Given the description of an element on the screen output the (x, y) to click on. 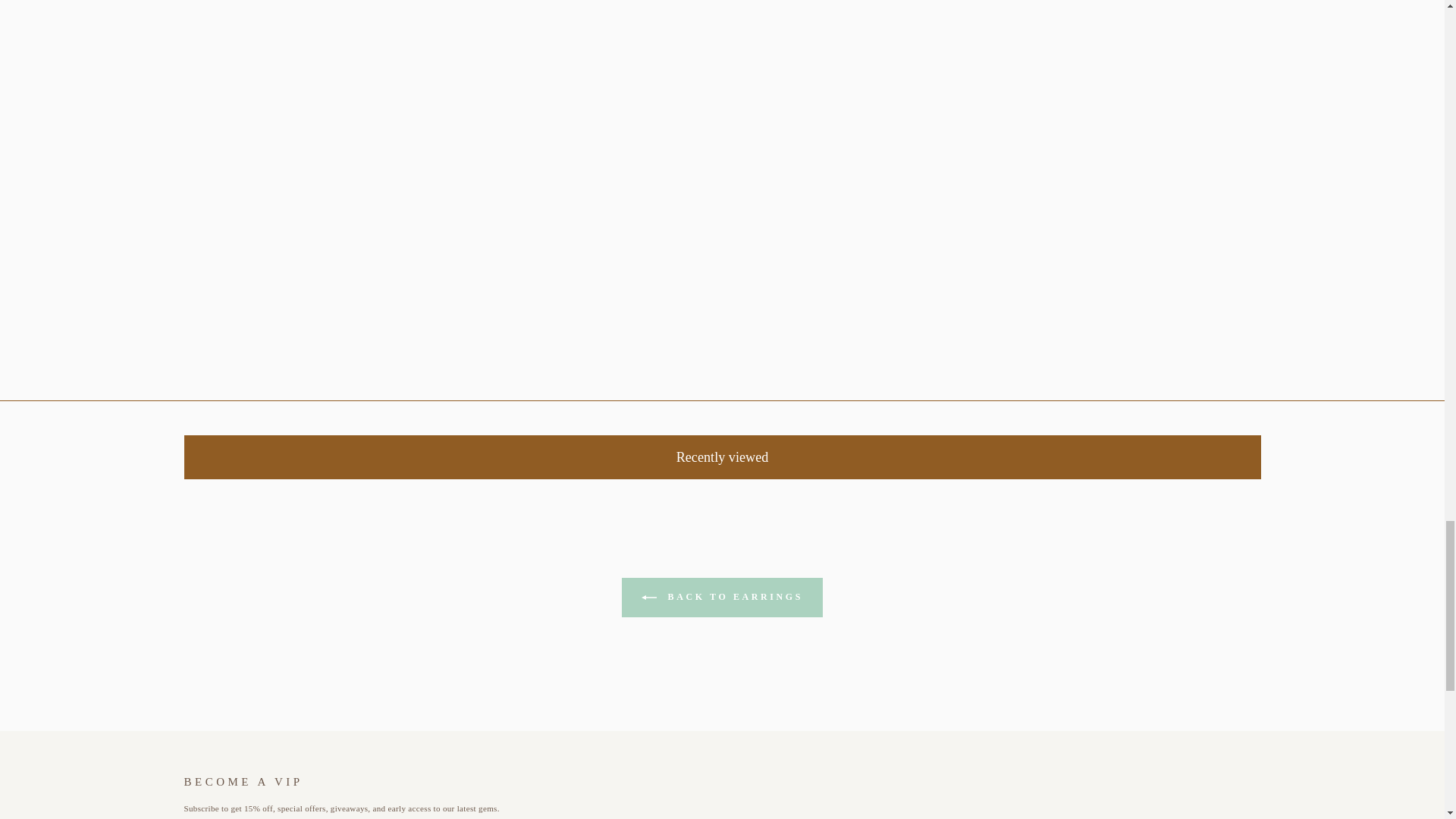
ICON-LEFT-ARROW (649, 597)
